Given the description of an element on the screen output the (x, y) to click on. 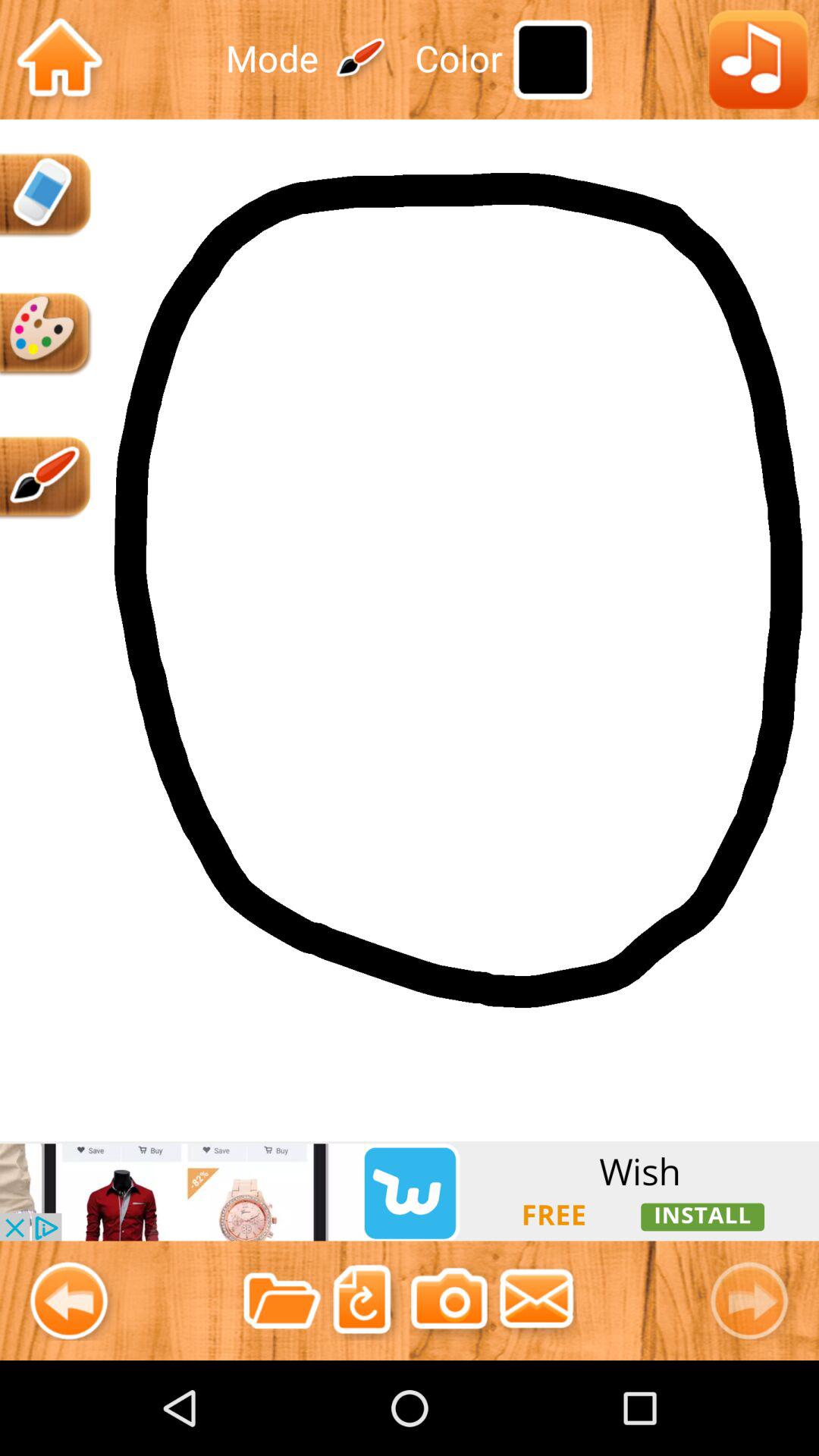
return to homepage (59, 59)
